Given the description of an element on the screen output the (x, y) to click on. 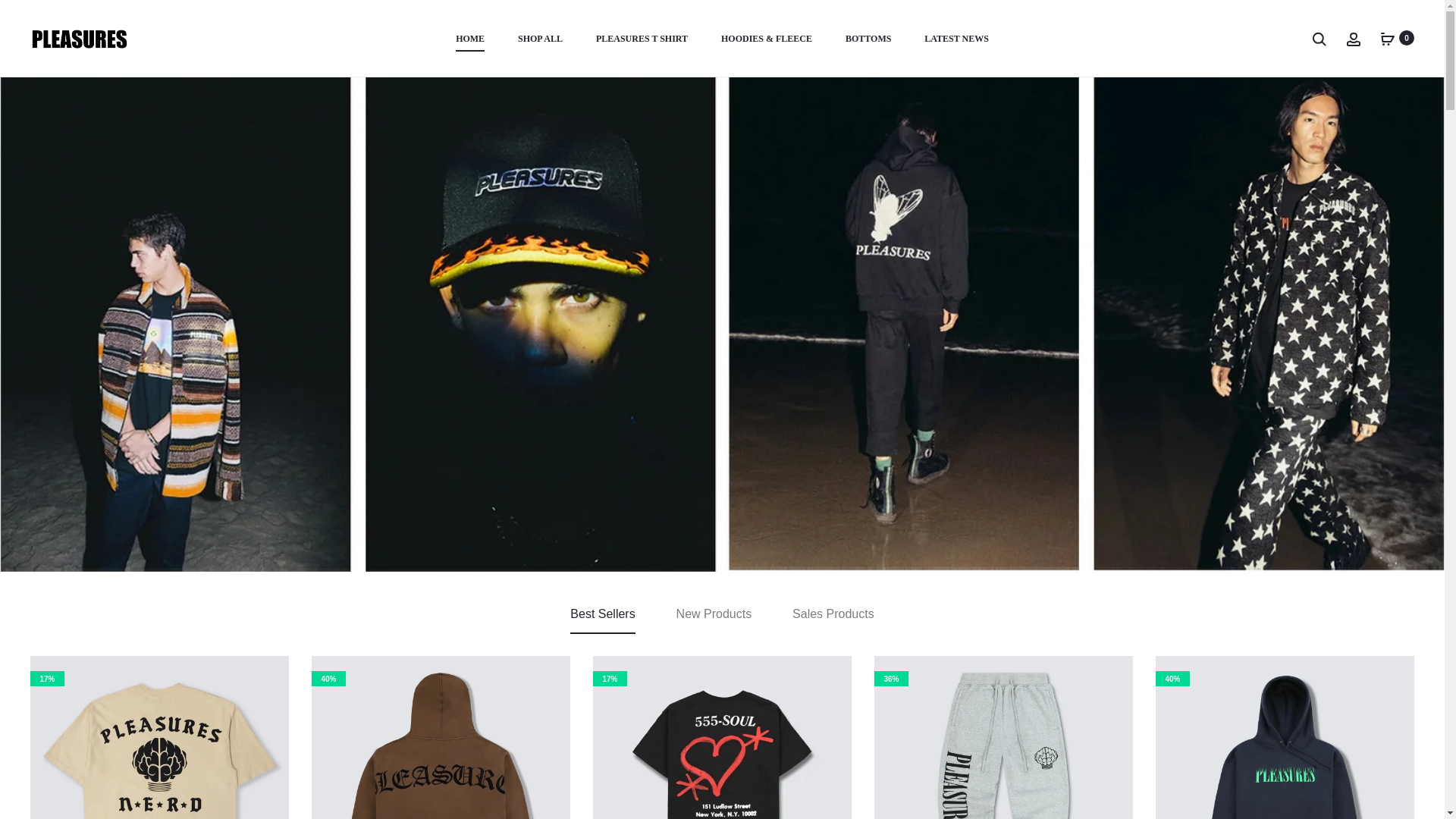
PLEASURES T SHIRT (641, 39)
SHOP ALL (540, 39)
LATEST NEWS (956, 39)
HOME (469, 39)
Account (1353, 37)
0 (1387, 37)
Search (1318, 37)
BOTTOMS (868, 39)
